Given the description of an element on the screen output the (x, y) to click on. 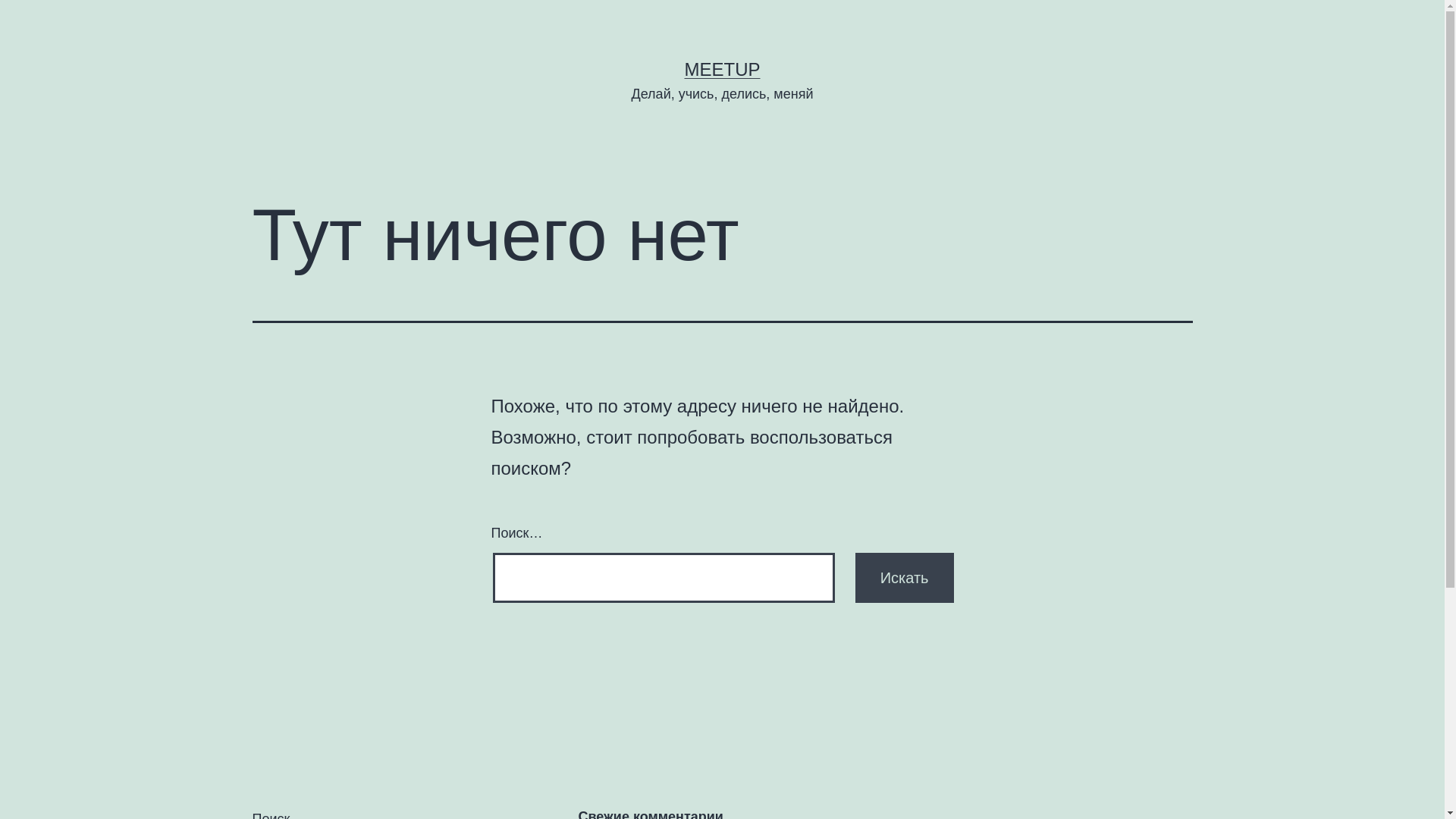
MEETUP Element type: text (721, 69)
